Given the description of an element on the screen output the (x, y) to click on. 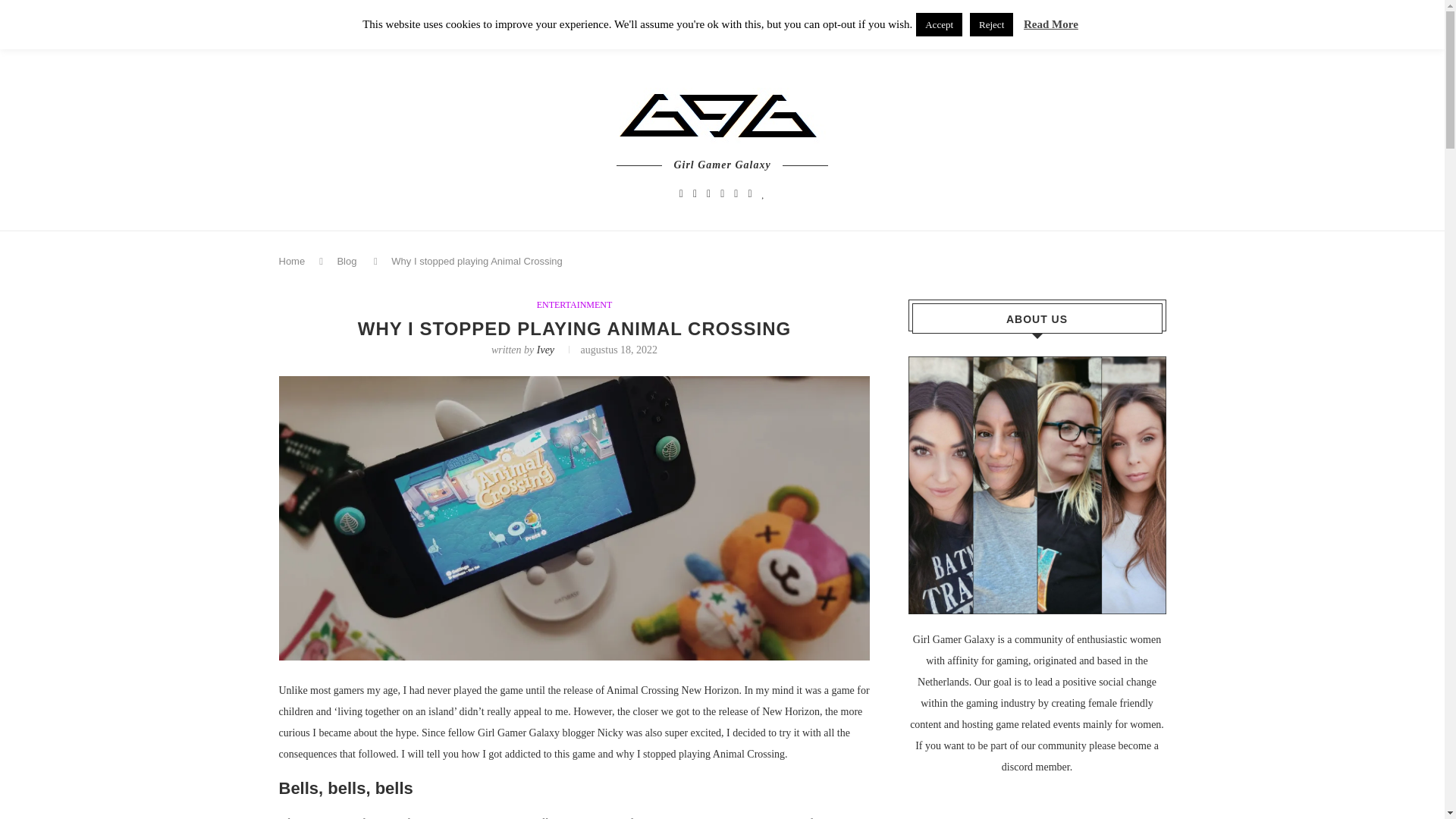
View all posts in Entertainment (574, 304)
